Given the description of an element on the screen output the (x, y) to click on. 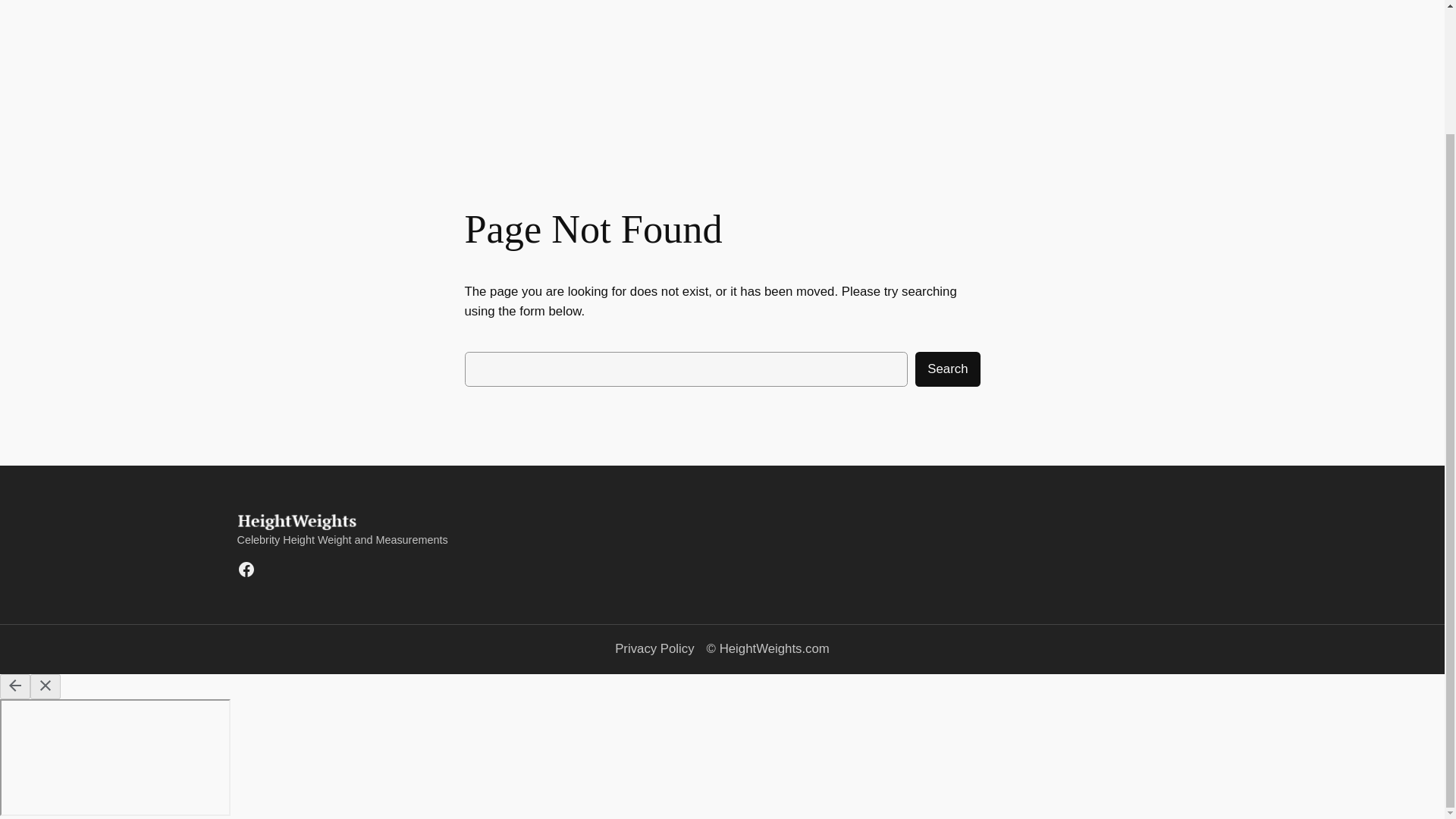
Privacy Policy (654, 649)
Search (947, 368)
Facebook (244, 569)
